Given the description of an element on the screen output the (x, y) to click on. 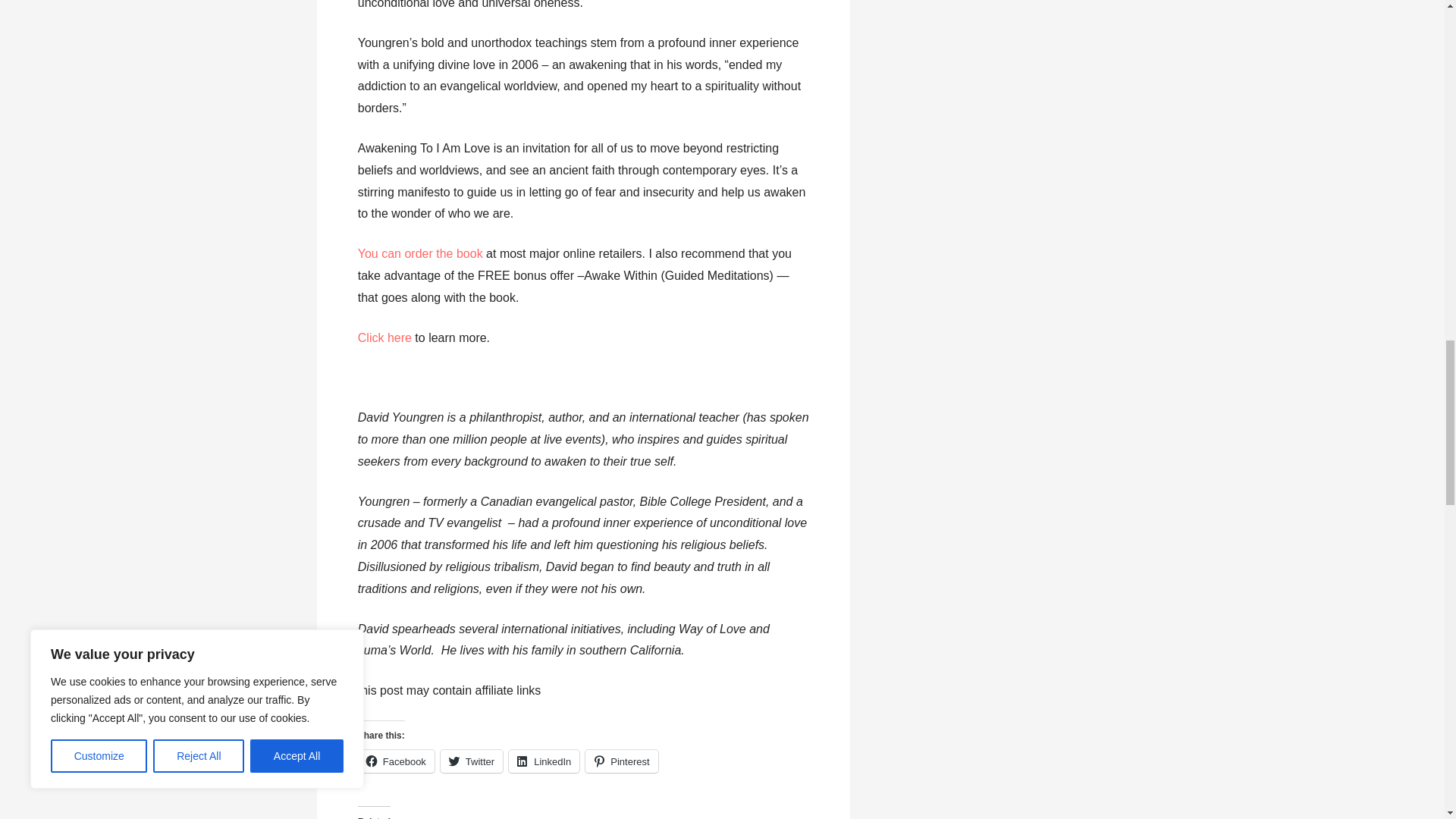
Click to share on Twitter (471, 761)
Click here (385, 337)
You can order the book (420, 253)
LinkedIn (543, 761)
Click to share on Facebook (395, 761)
Click to share on LinkedIn (543, 761)
Click to share on Pinterest (621, 761)
Pinterest (621, 761)
Facebook (395, 761)
Twitter (471, 761)
